Given the description of an element on the screen output the (x, y) to click on. 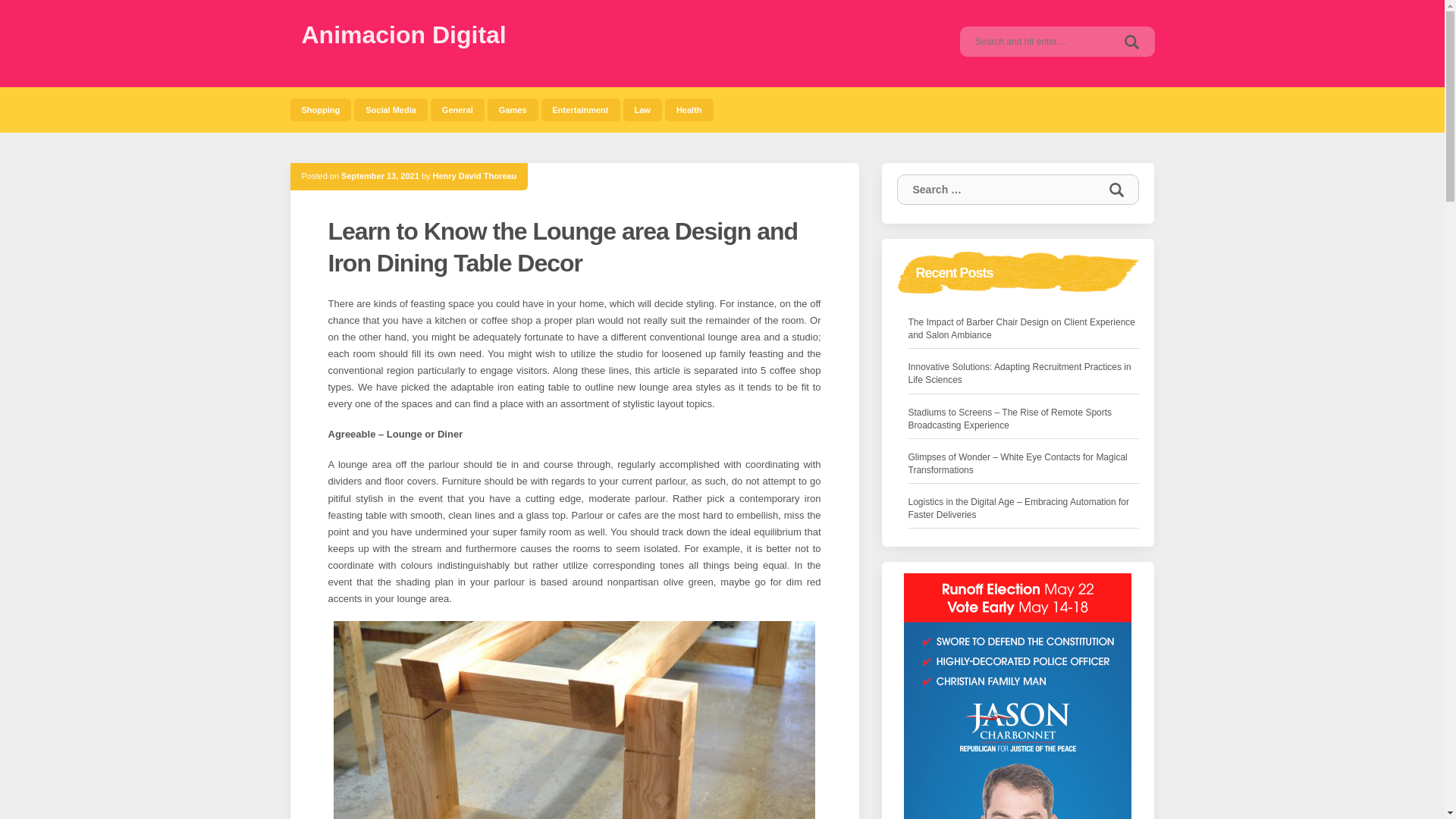
Health (689, 109)
Entertainment (580, 109)
Social Media (390, 109)
Law (642, 109)
Health (689, 109)
General (457, 109)
Search (1115, 189)
Shopping (319, 109)
General (457, 109)
Search (1131, 41)
September 13, 2021 (379, 175)
Animacion Digital (403, 34)
Search (1115, 189)
Search (1131, 41)
